Given the description of an element on the screen output the (x, y) to click on. 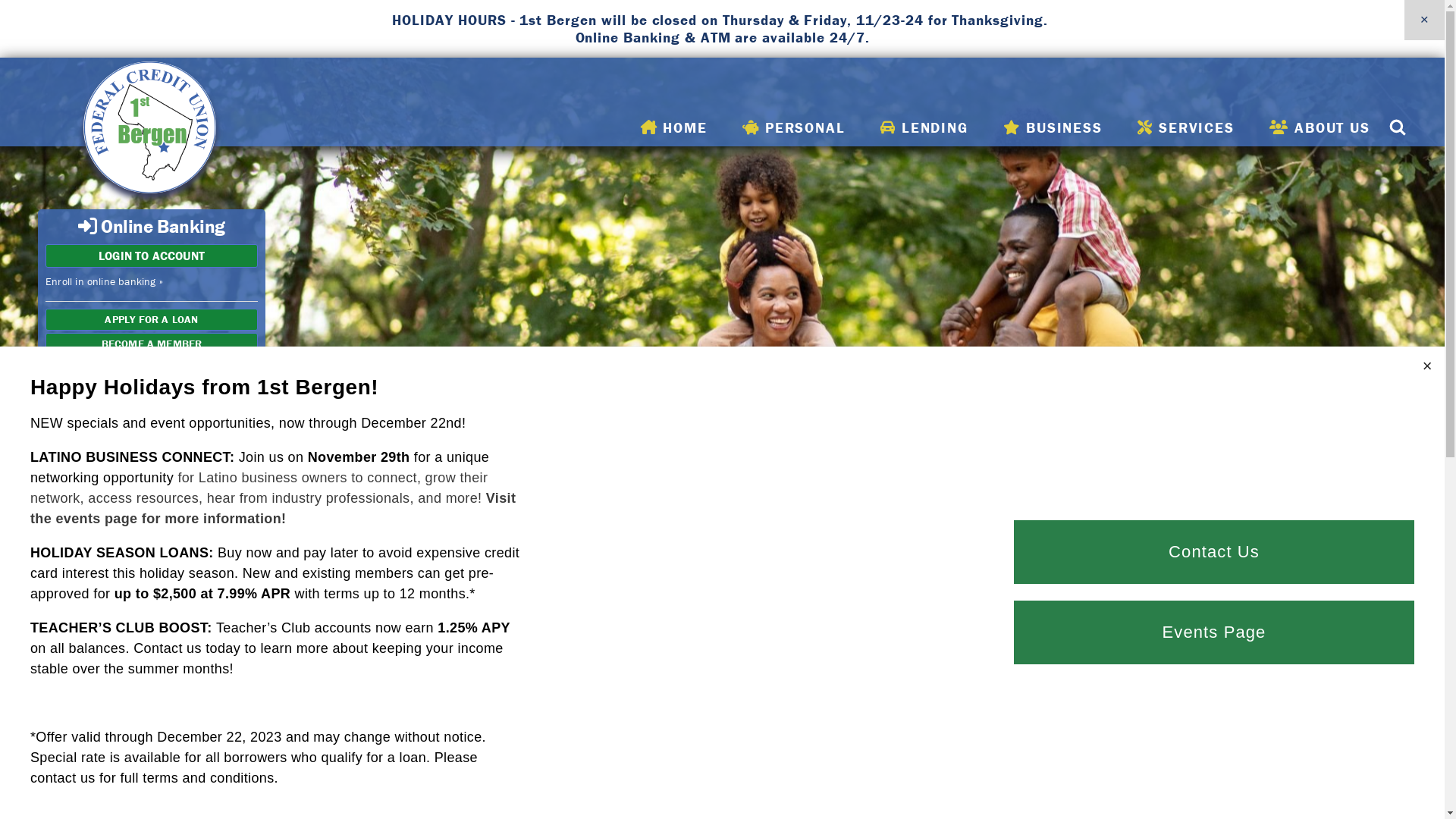
BECOME A MEMBER Element type: text (151, 343)
APPLY FOR A LOAN Element type: text (151, 319)
LOGIN TO ACCOUNT Element type: text (151, 255)
JOIN US TODAY! Element type: text (721, 736)
HOME Element type: text (673, 127)
